Given the description of an element on the screen output the (x, y) to click on. 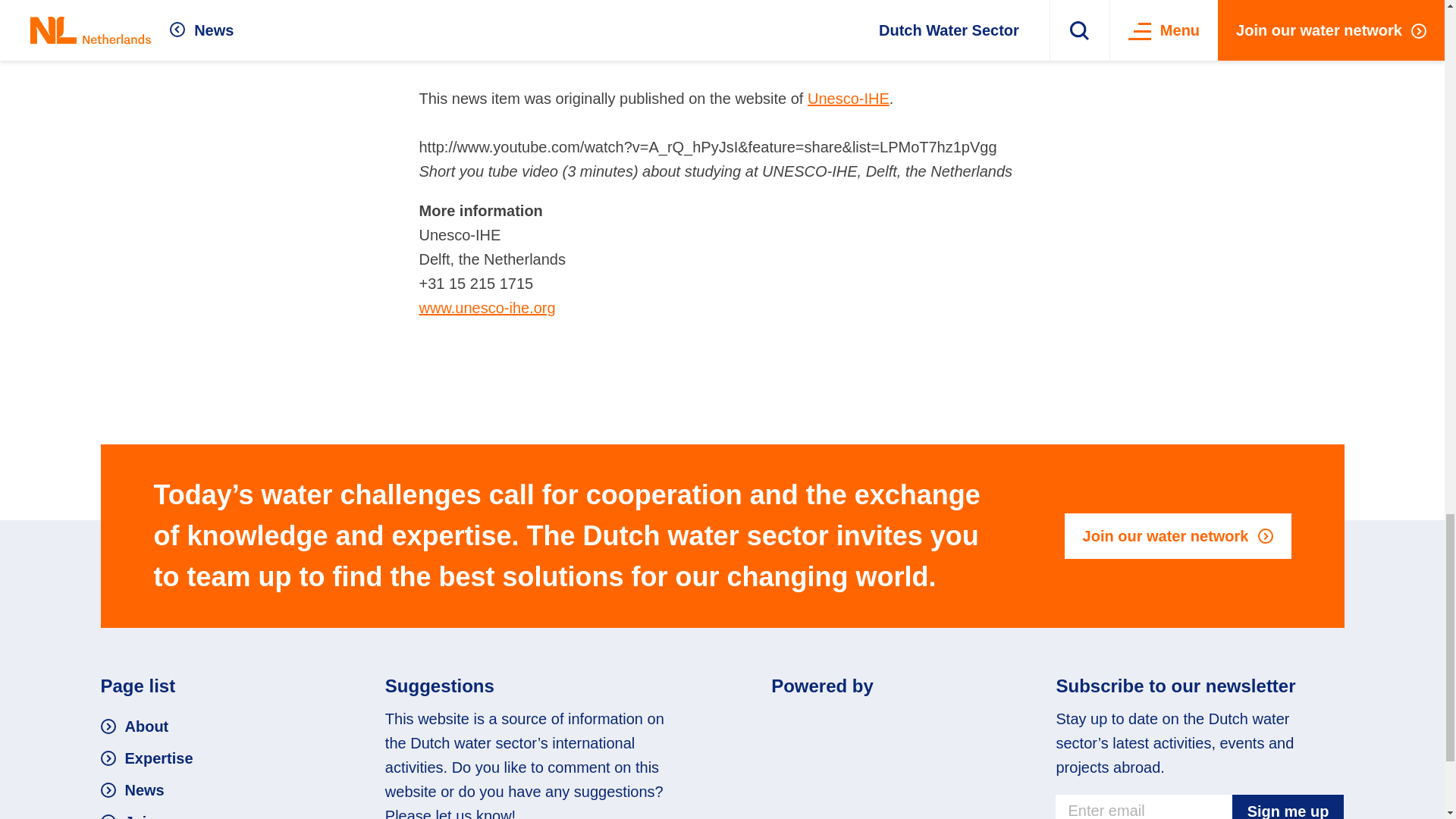
Unesco-IHE (848, 98)
Join our water network (1177, 535)
News (131, 790)
Image (864, 723)
www.unesco-ihe.org (486, 307)
Expertise (146, 758)
About (134, 726)
